Given the description of an element on the screen output the (x, y) to click on. 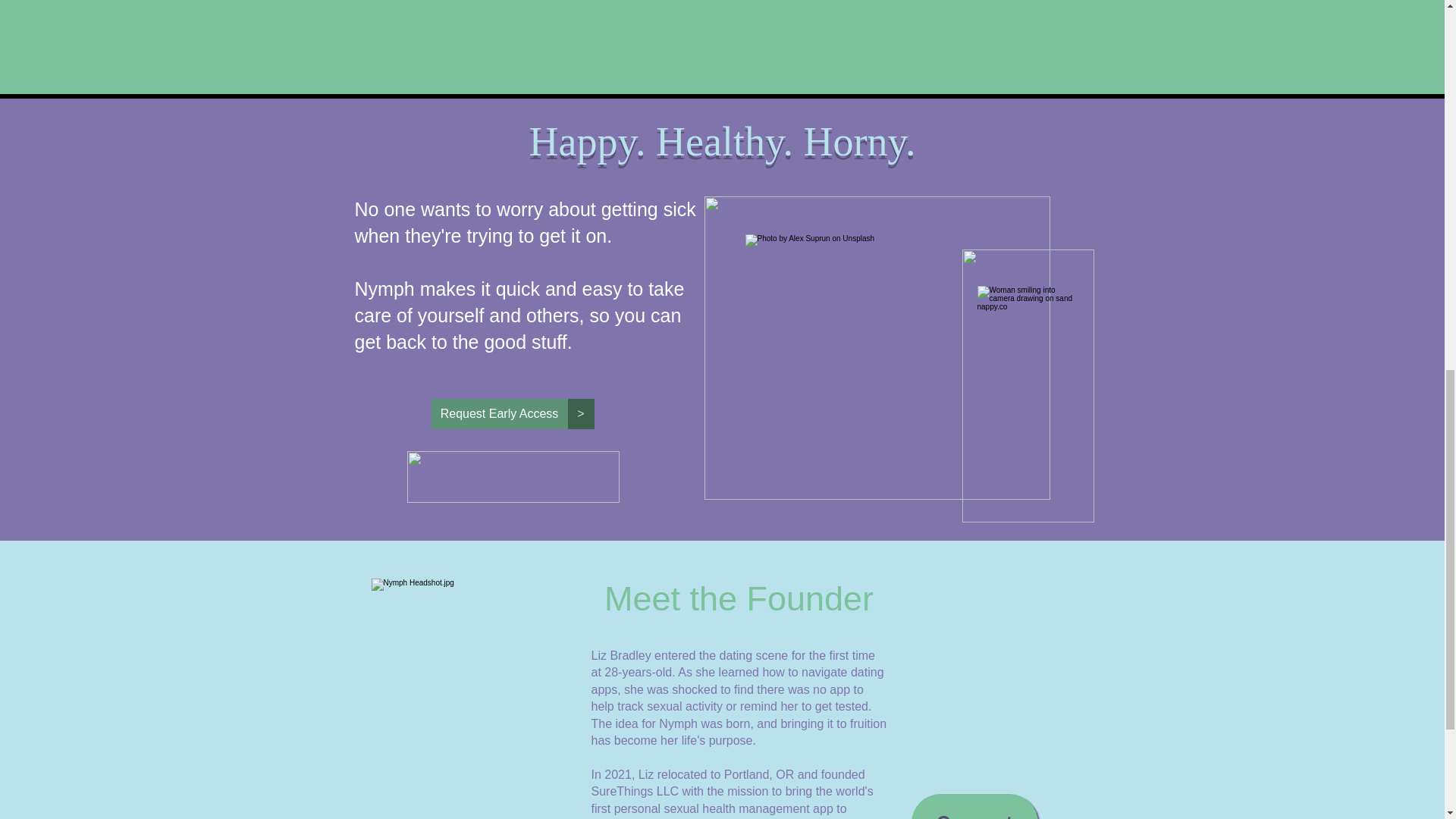
Request Early Access (498, 413)
Connect (974, 806)
